Given the description of an element on the screen output the (x, y) to click on. 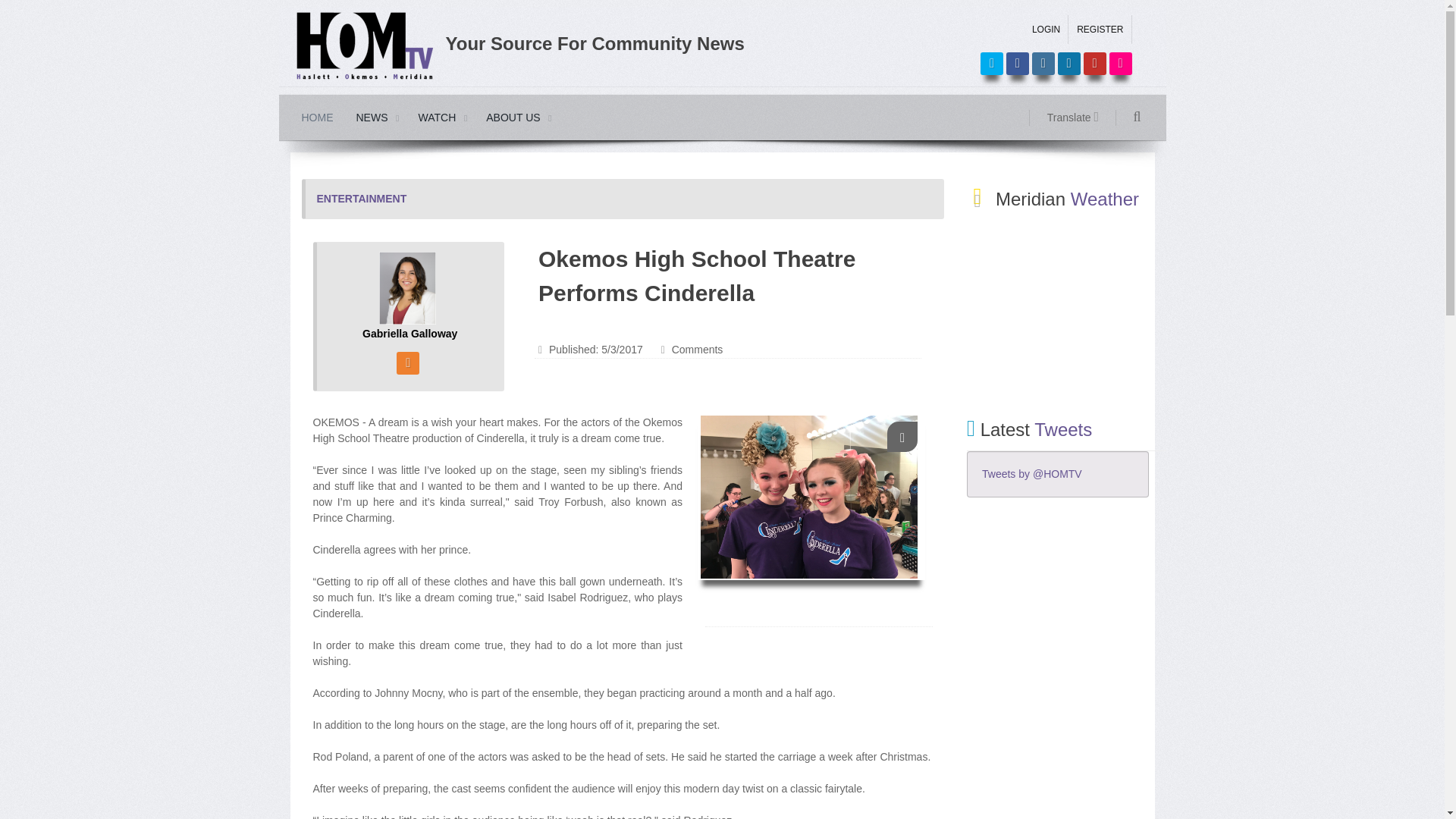
Translate (1078, 117)
NEWS (374, 117)
Gabriella Galloway (409, 287)
REGISTER (1099, 29)
HOME (316, 117)
LOGIN (1046, 29)
